Given the description of an element on the screen output the (x, y) to click on. 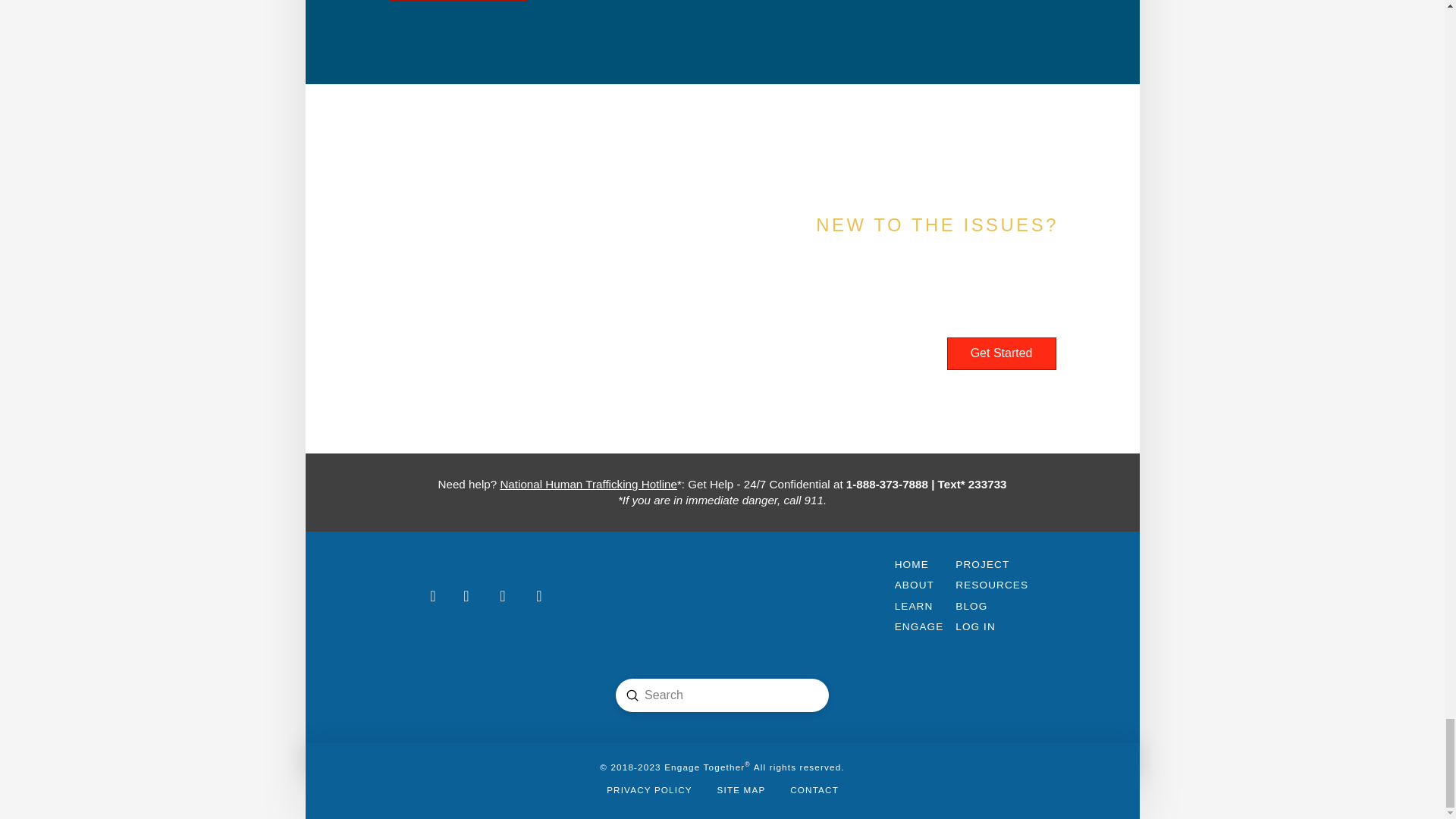
Get Started (1002, 353)
National Human Trafficking Hotline (588, 483)
